Given the description of an element on the screen output the (x, y) to click on. 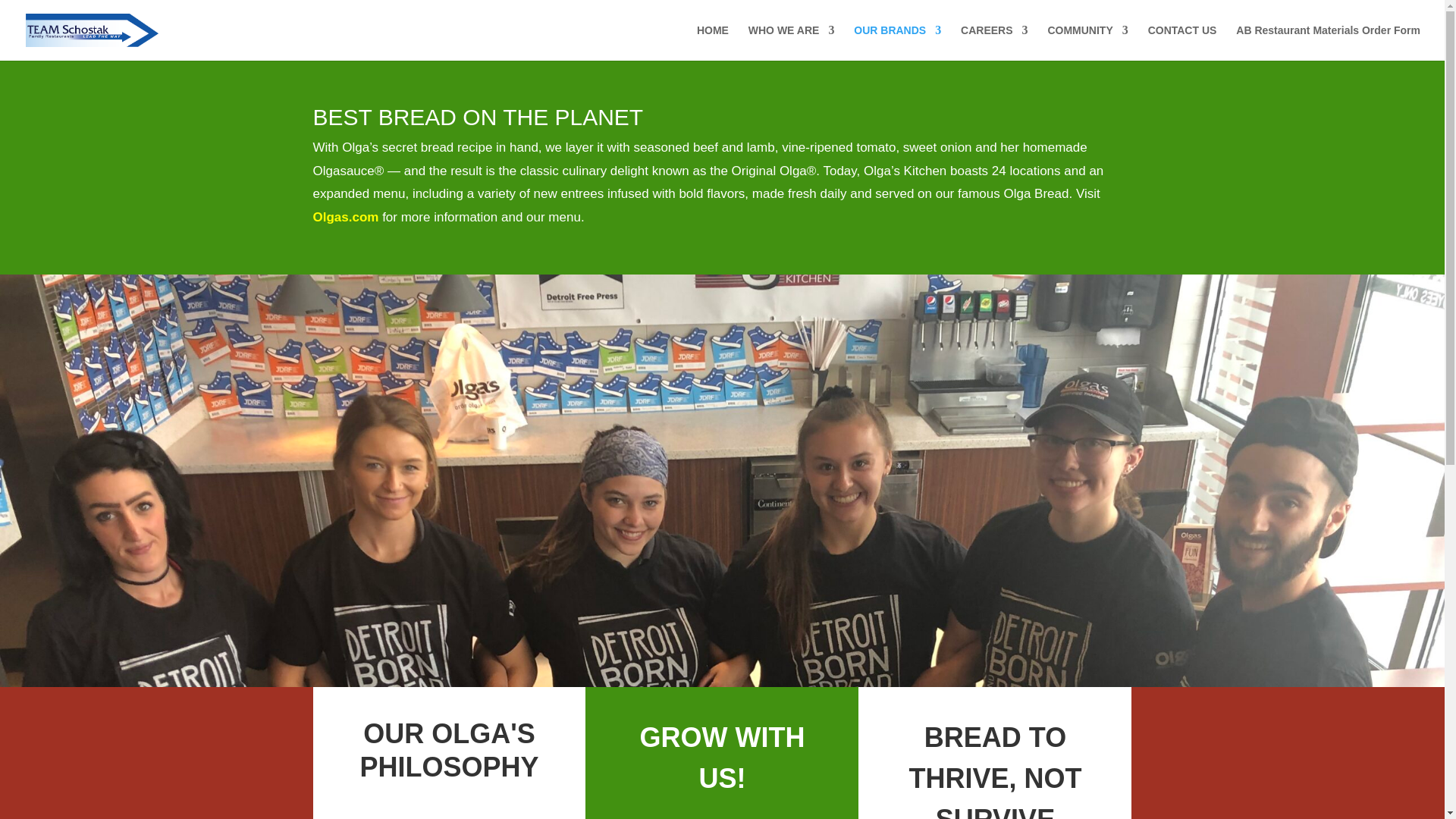
COMMUNITY (1086, 42)
CAREERS (993, 42)
Olgas.com (345, 216)
AB Restaurant Materials Order Form (1328, 42)
Olgas Brand 11 30 22 (448, 805)
OUR BRANDS (896, 42)
WHO WE ARE (791, 42)
HOME (713, 42)
CONTACT US (1182, 42)
